Given the description of an element on the screen output the (x, y) to click on. 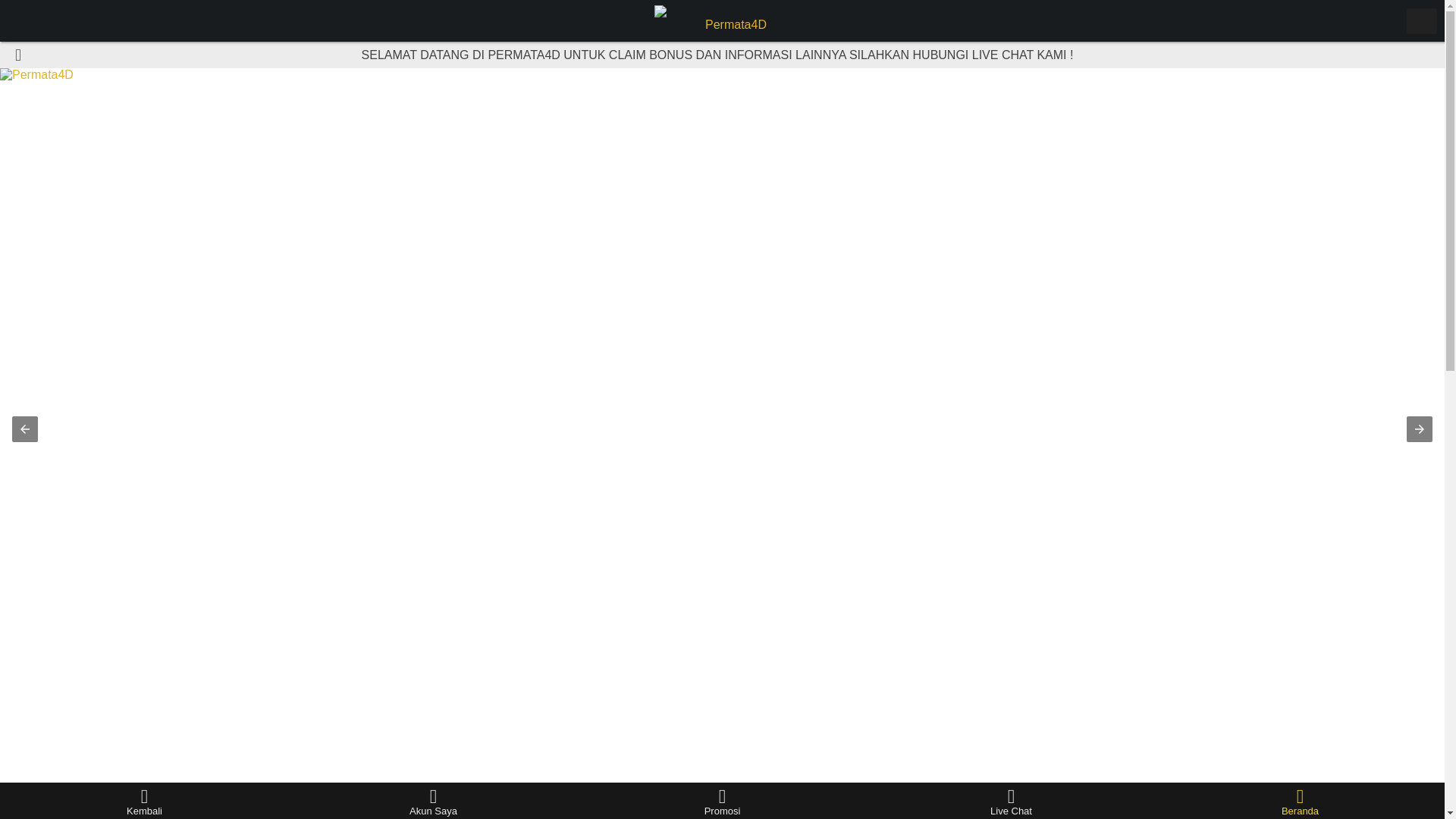
MENU ICON (1421, 21)
Live Chat (1011, 800)
Akun Saya (433, 800)
Beranda (1300, 800)
Promosi (722, 800)
Kembali (144, 800)
DAFTAR (1083, 804)
MASUK (361, 804)
